Given the description of an element on the screen output the (x, y) to click on. 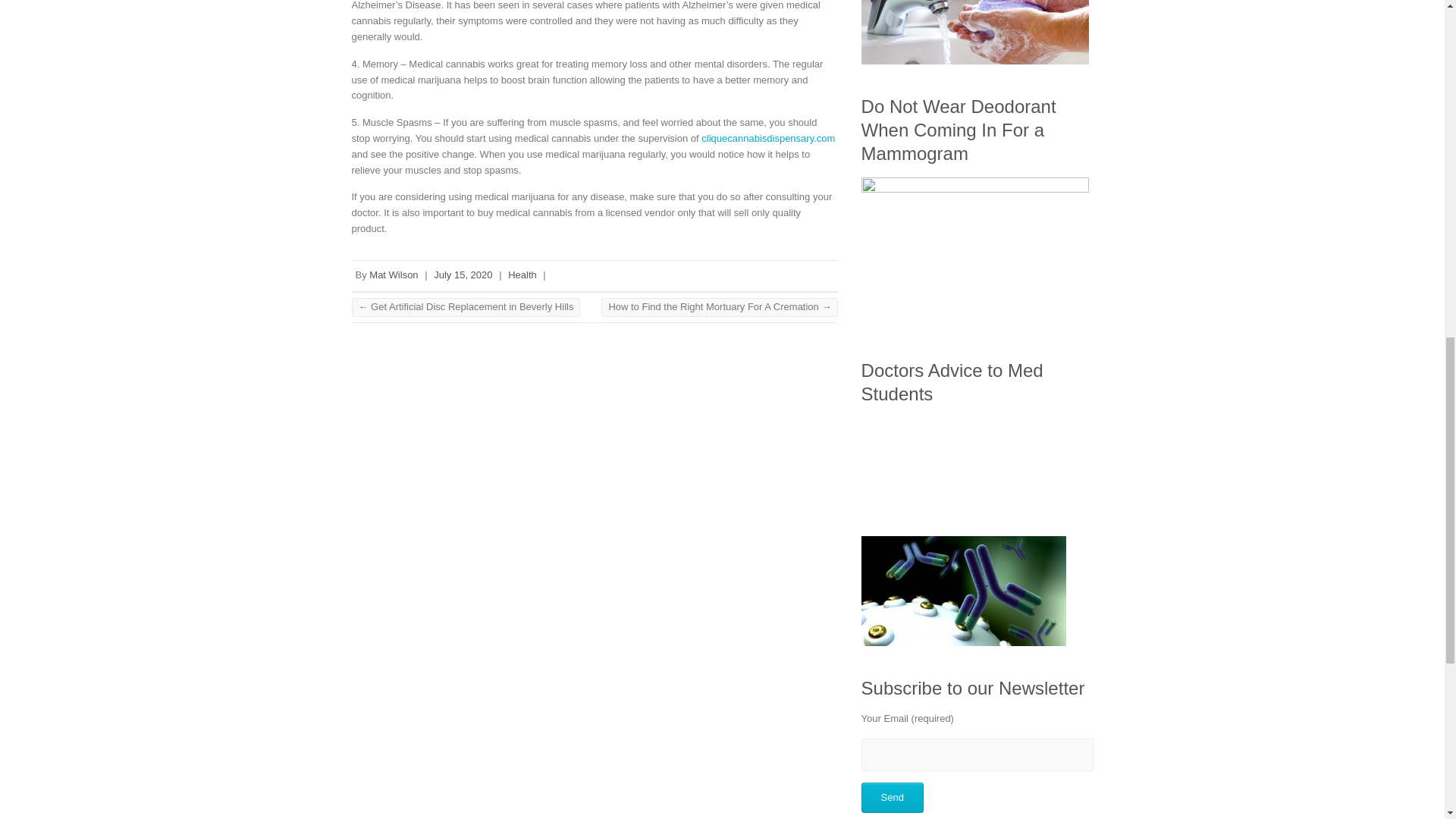
Mat Wilson (393, 274)
Send (892, 797)
Send (892, 797)
cliquecannabisdispensary.com (767, 138)
7:20 pm (462, 274)
July 15, 2020 (462, 274)
Health (522, 274)
